Given the description of an element on the screen output the (x, y) to click on. 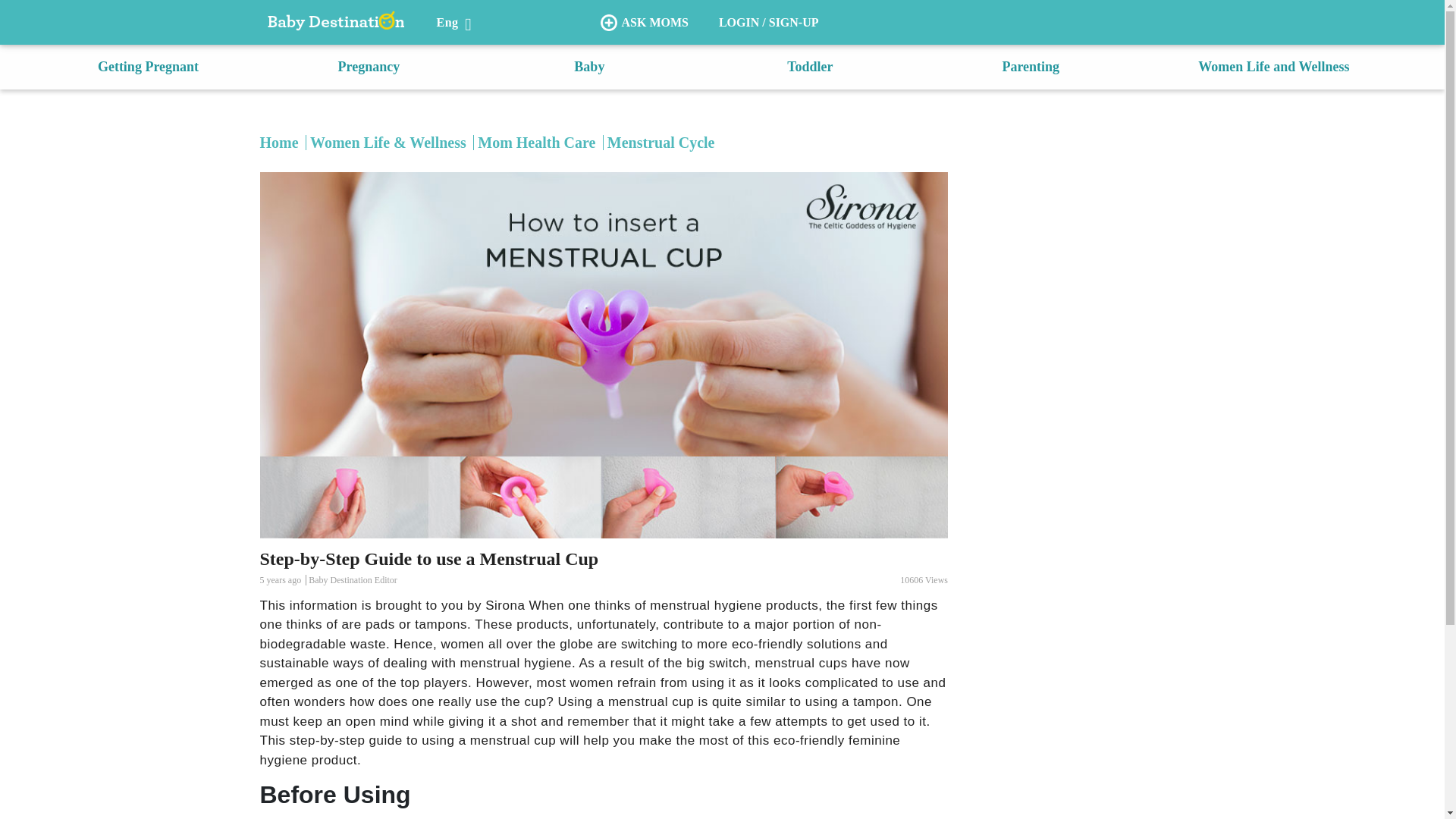
Baby (588, 66)
Getting Pregnant (147, 66)
ASK MOMS (644, 22)
Pregnancy (368, 66)
Toddler (810, 66)
